Given the description of an element on the screen output the (x, y) to click on. 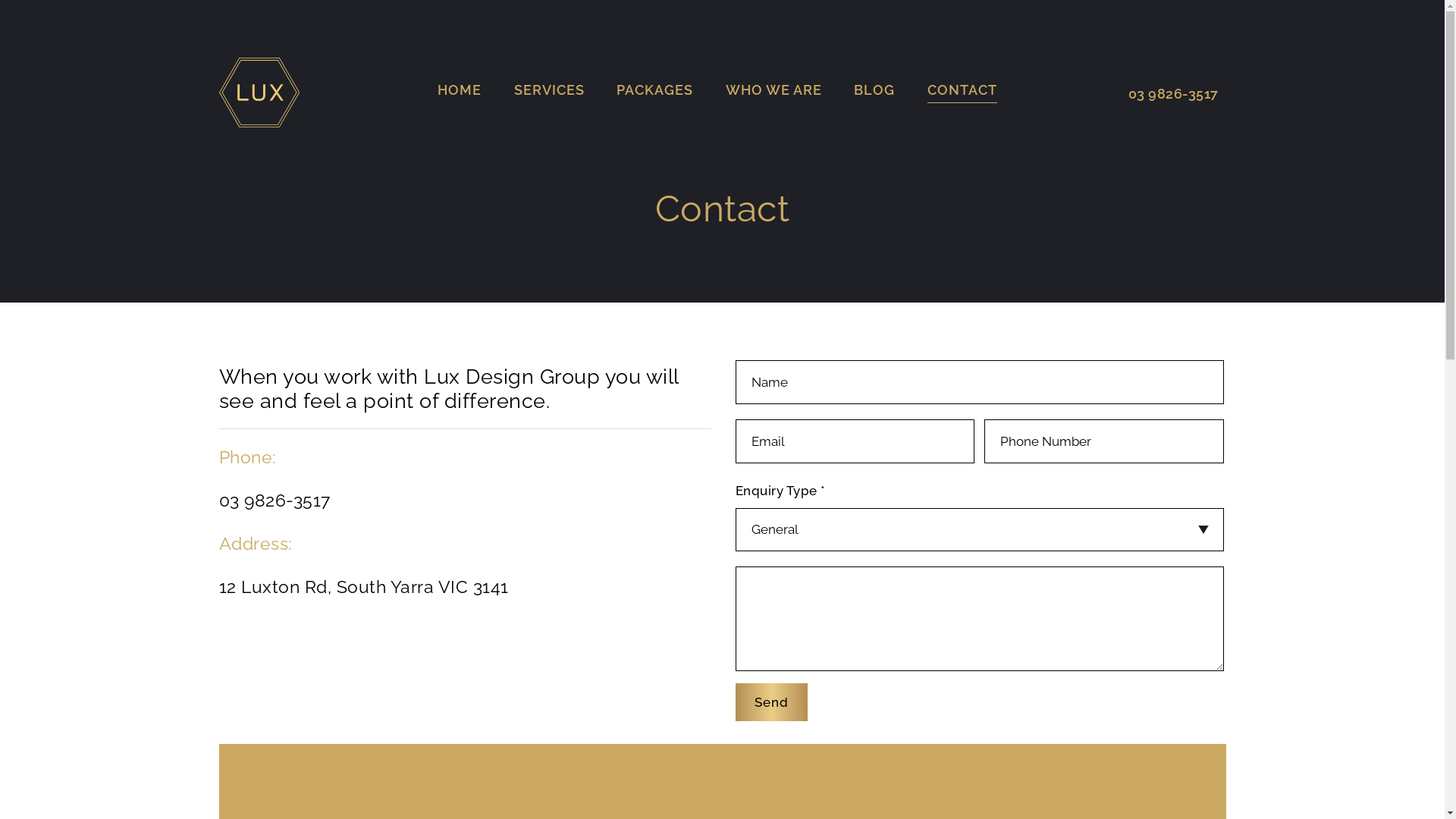
03 9826-3517 Element type: text (1149, 93)
CONTACT Element type: text (961, 93)
WHO WE ARE Element type: text (773, 93)
BLOG Element type: text (874, 93)
LUX Design Group Element type: hover (258, 92)
PACKAGES Element type: text (654, 93)
SERVICES Element type: text (549, 93)
HOME Element type: text (459, 93)
Send Element type: text (771, 702)
